Given the description of an element on the screen output the (x, y) to click on. 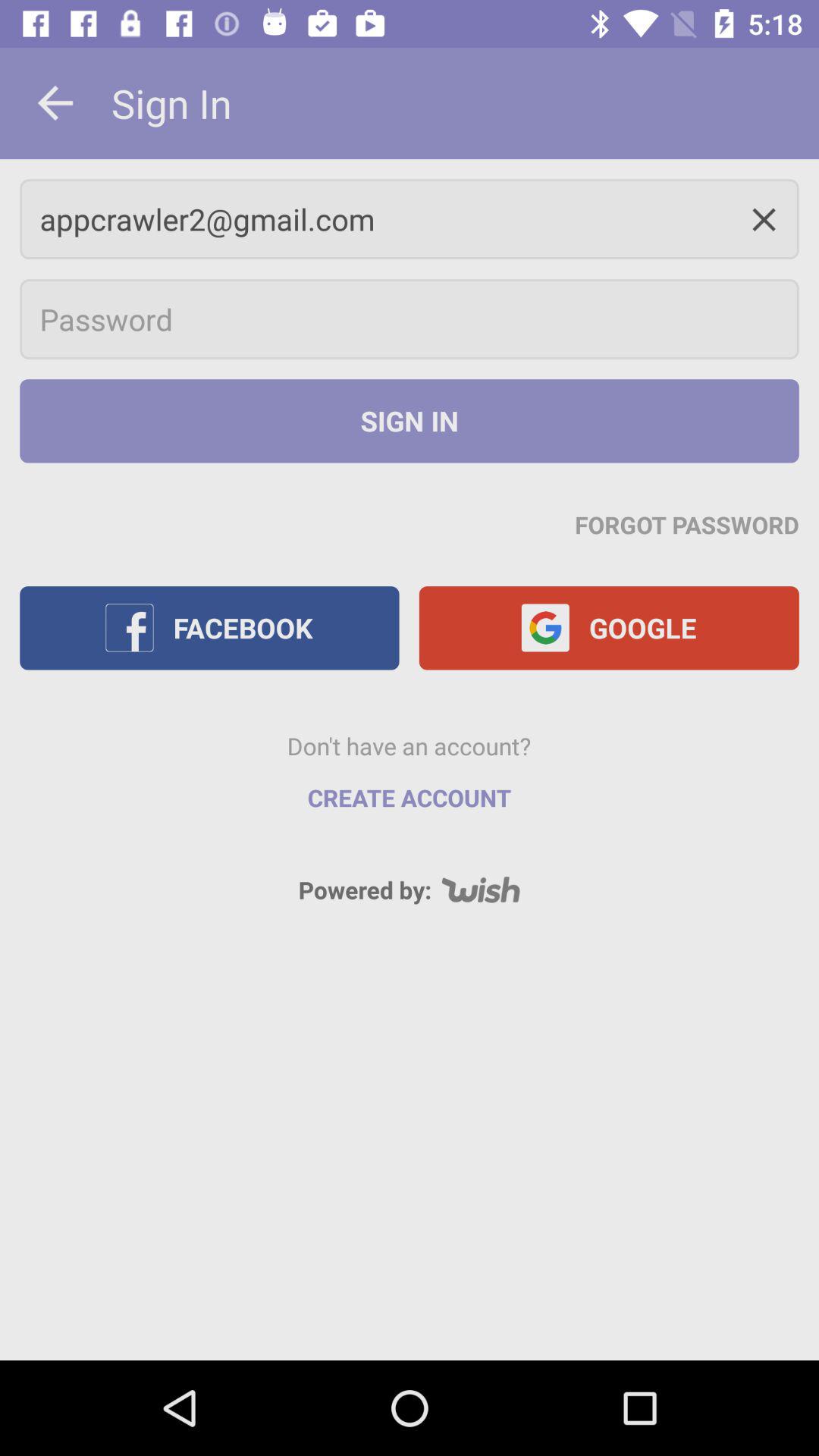
jump until forgot password icon (687, 524)
